Given the description of an element on the screen output the (x, y) to click on. 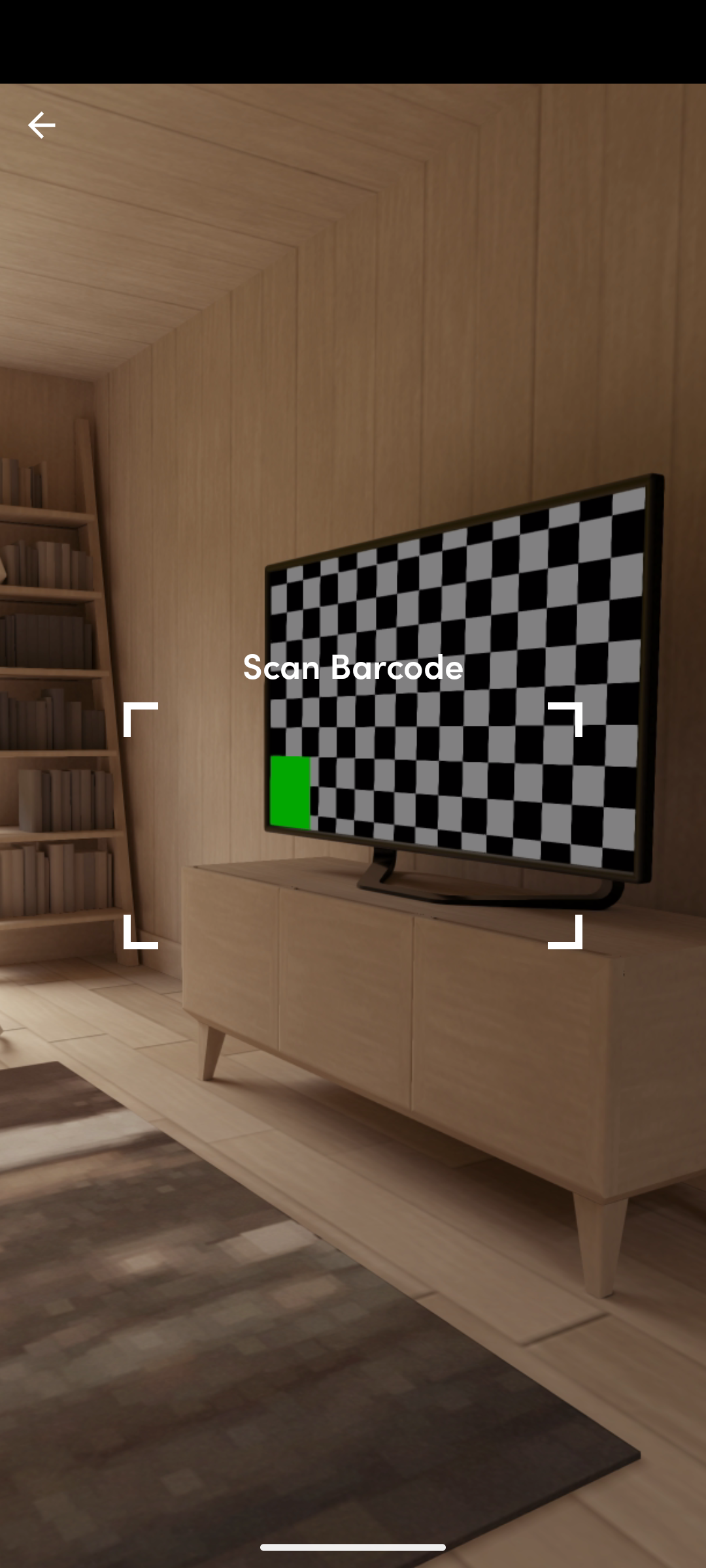
top_left_action (41, 125)
